Given the description of an element on the screen output the (x, y) to click on. 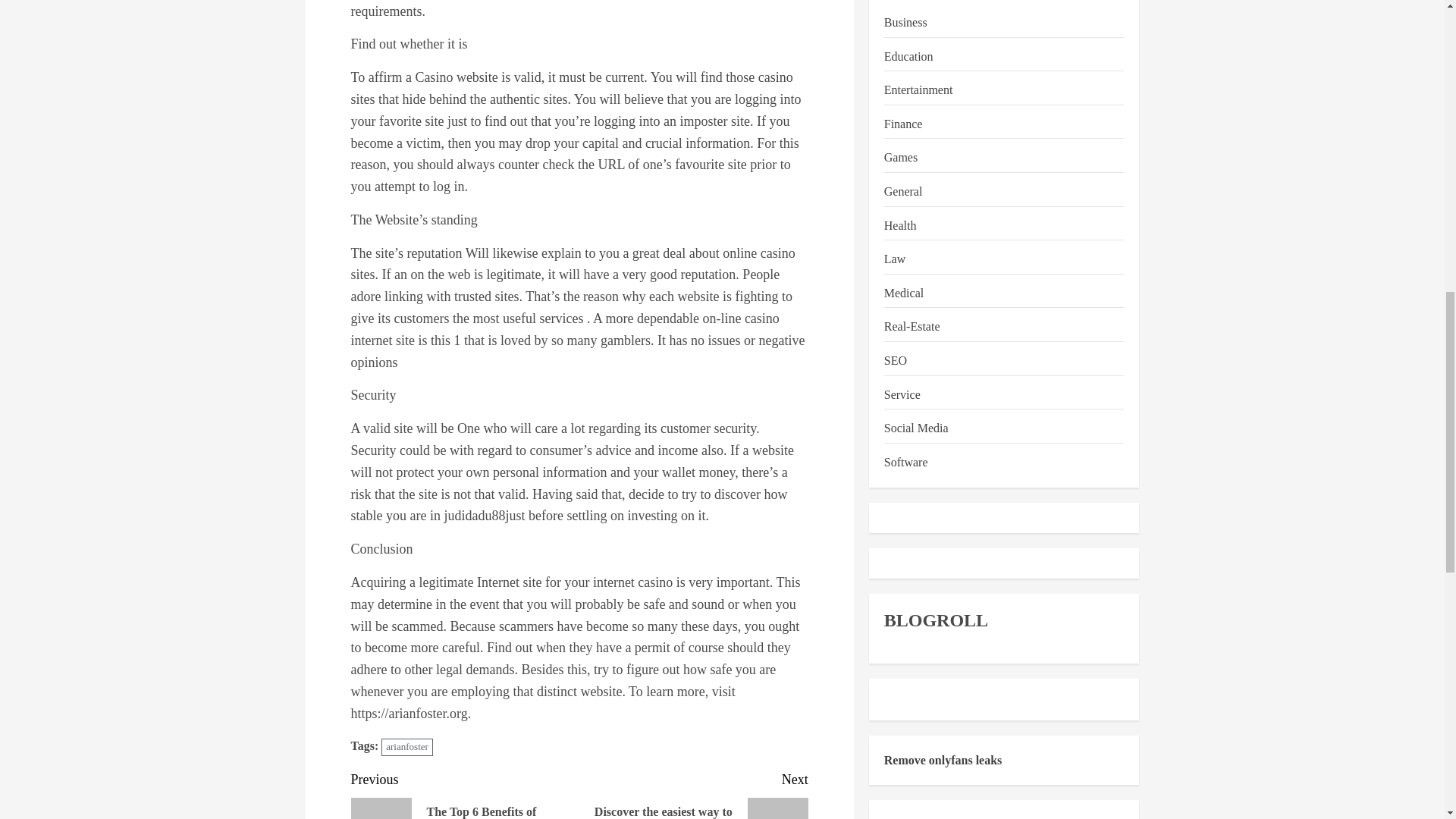
Business (905, 11)
Games (900, 146)
Medical (903, 281)
Entertainment (918, 78)
Law (894, 248)
Education (908, 46)
Finance (903, 113)
Health (900, 214)
arianfoster (406, 746)
